Given the description of an element on the screen output the (x, y) to click on. 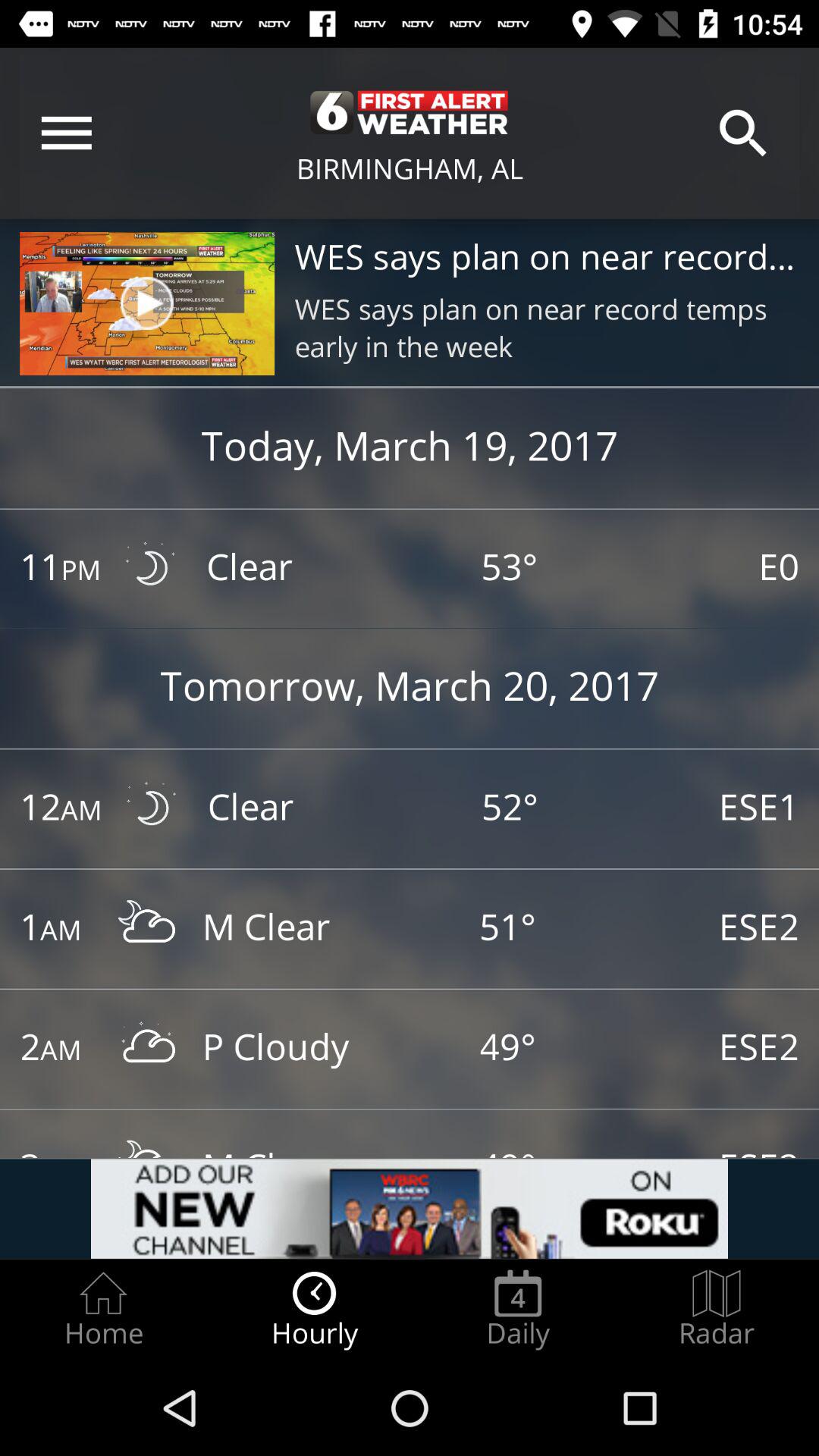
open radio button to the left of hourly item (103, 1309)
